Given the description of an element on the screen output the (x, y) to click on. 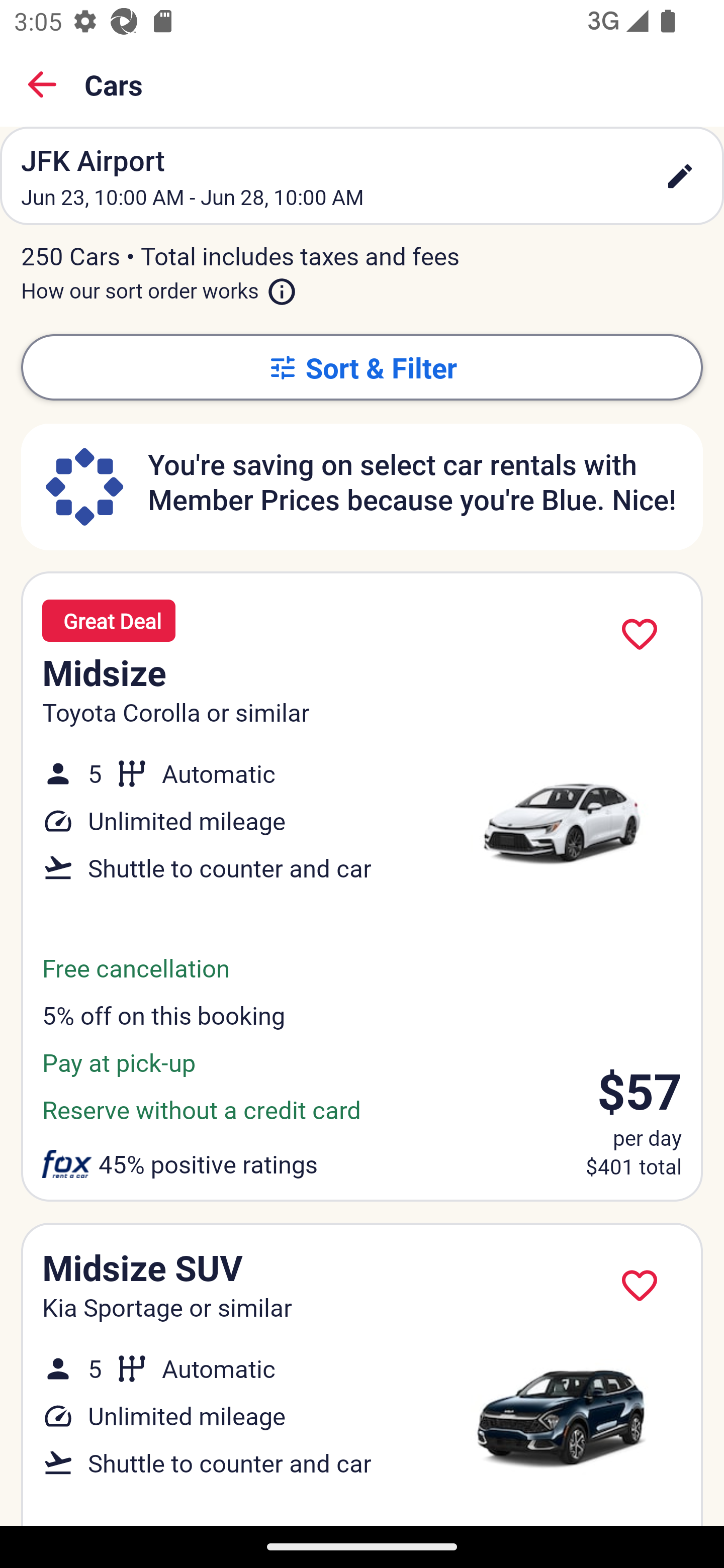
Back (42, 84)
edit (679, 175)
Sort & Filter (361, 366)
